Given the description of an element on the screen output the (x, y) to click on. 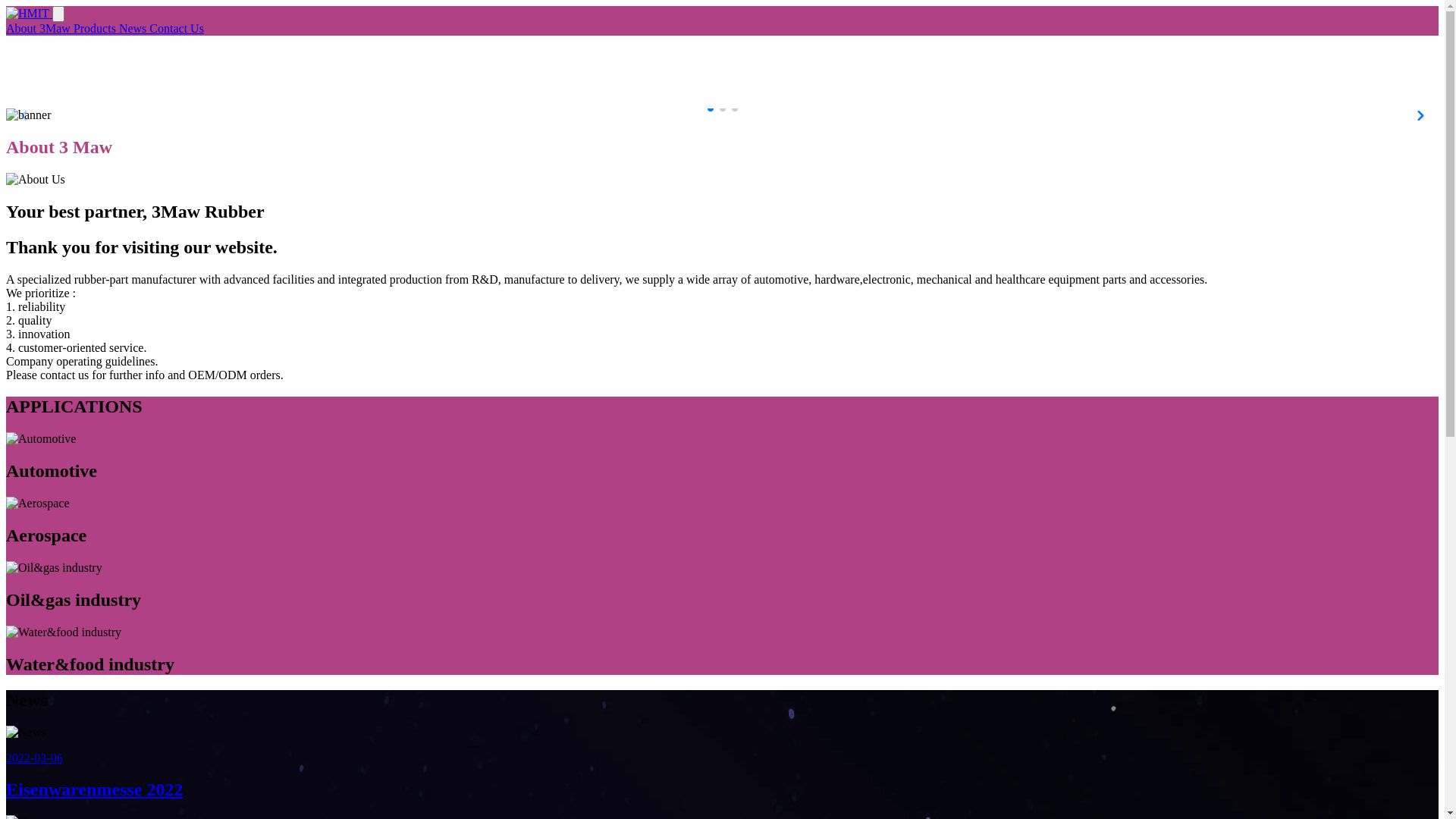
About 3Maw Element type: text (39, 27)
Products Element type: text (96, 27)
News Element type: text (134, 27)
Contact Us Element type: text (176, 27)
